Given the description of an element on the screen output the (x, y) to click on. 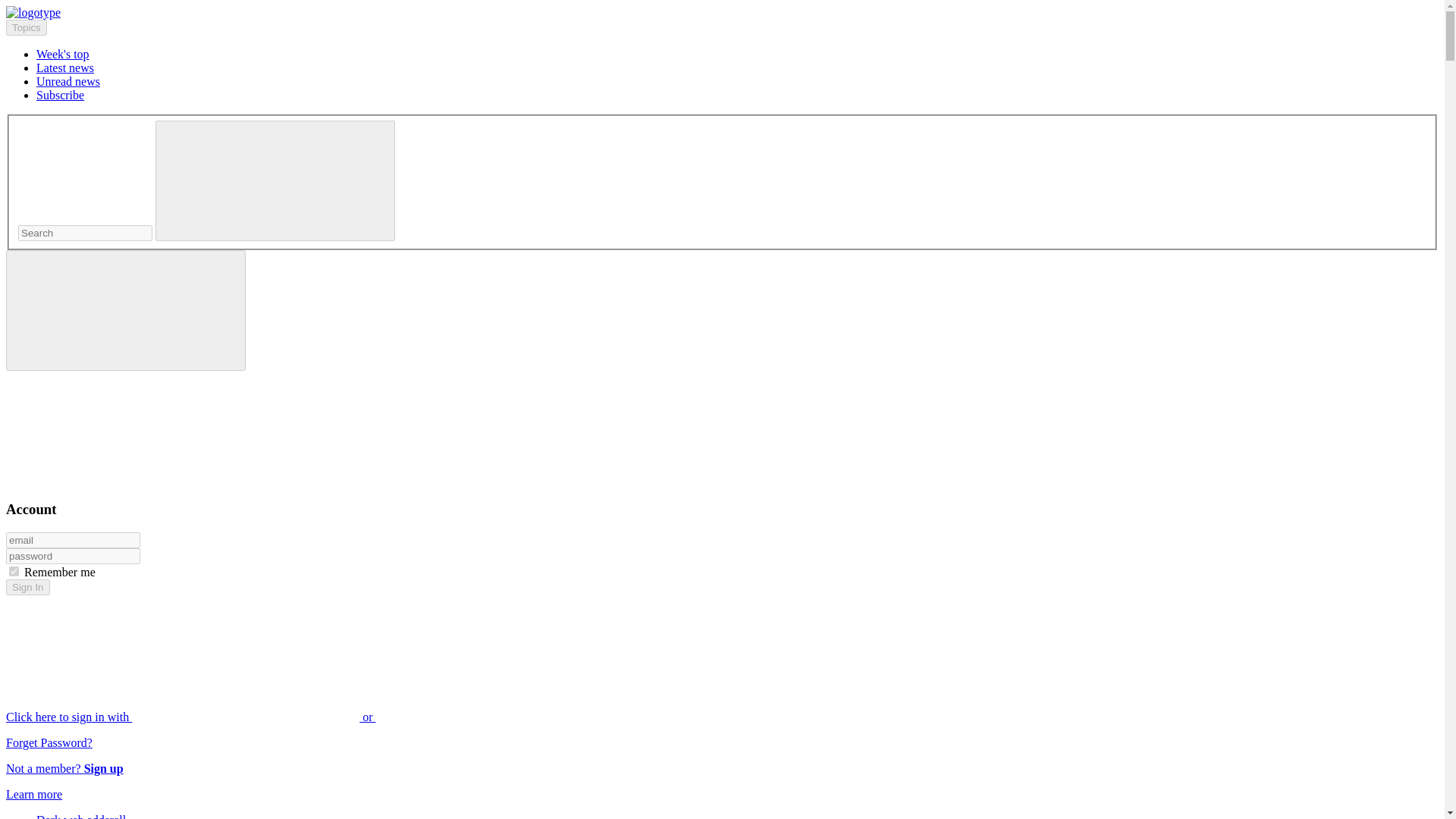
Click here to sign in with or (304, 716)
Forget Password? (49, 742)
Week's top (62, 53)
Dark web adderall (80, 816)
Topics (25, 27)
Unread news (68, 81)
Dark web adderall (80, 816)
Sign In (27, 587)
Learn more (33, 793)
on (13, 571)
Subscribe (60, 94)
Latest news (65, 67)
Not a member? Sign up (64, 768)
